Given the description of an element on the screen output the (x, y) to click on. 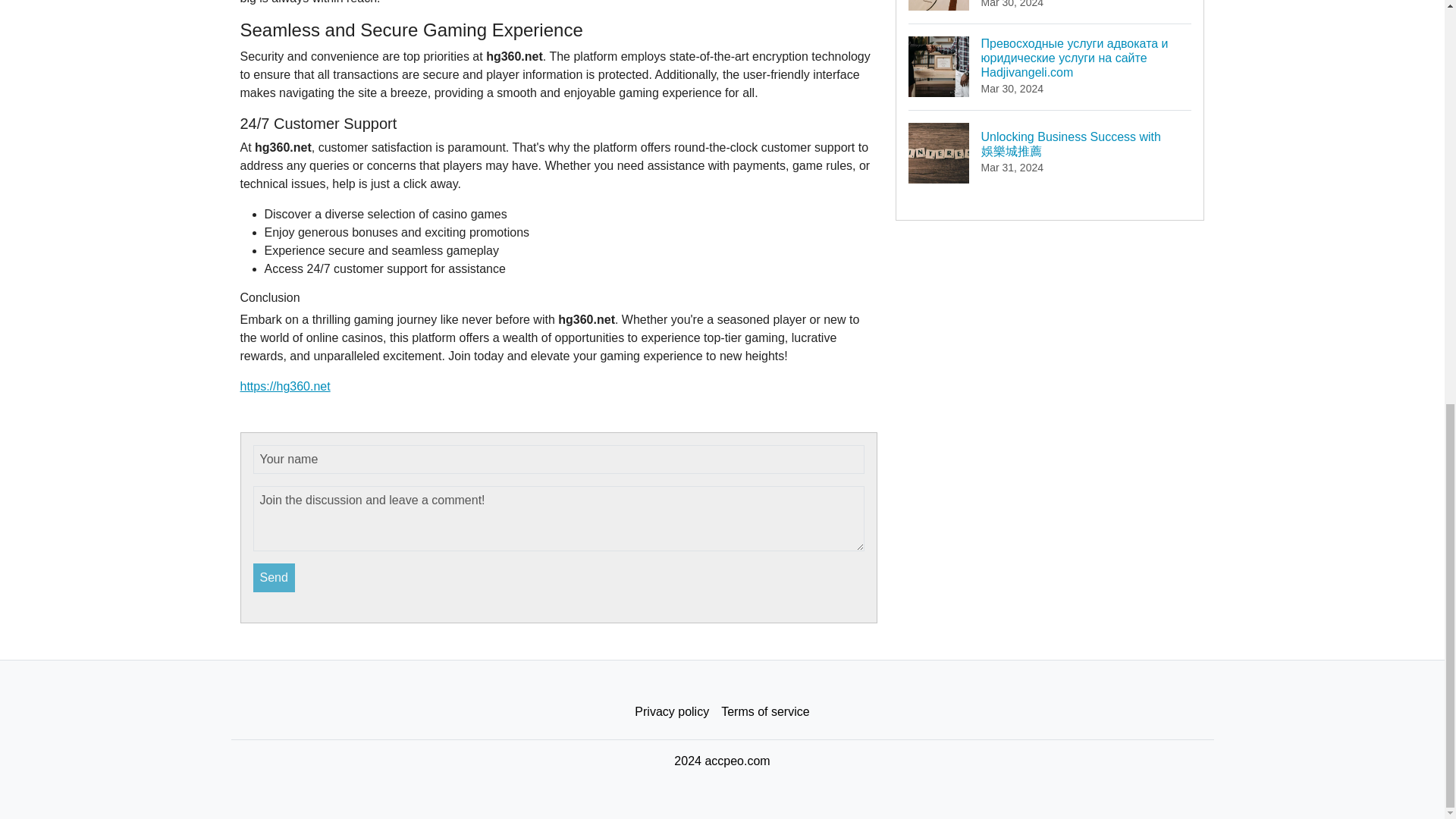
Privacy policy (671, 711)
Terms of service (764, 711)
Send (274, 577)
Send (274, 577)
